Given the description of an element on the screen output the (x, y) to click on. 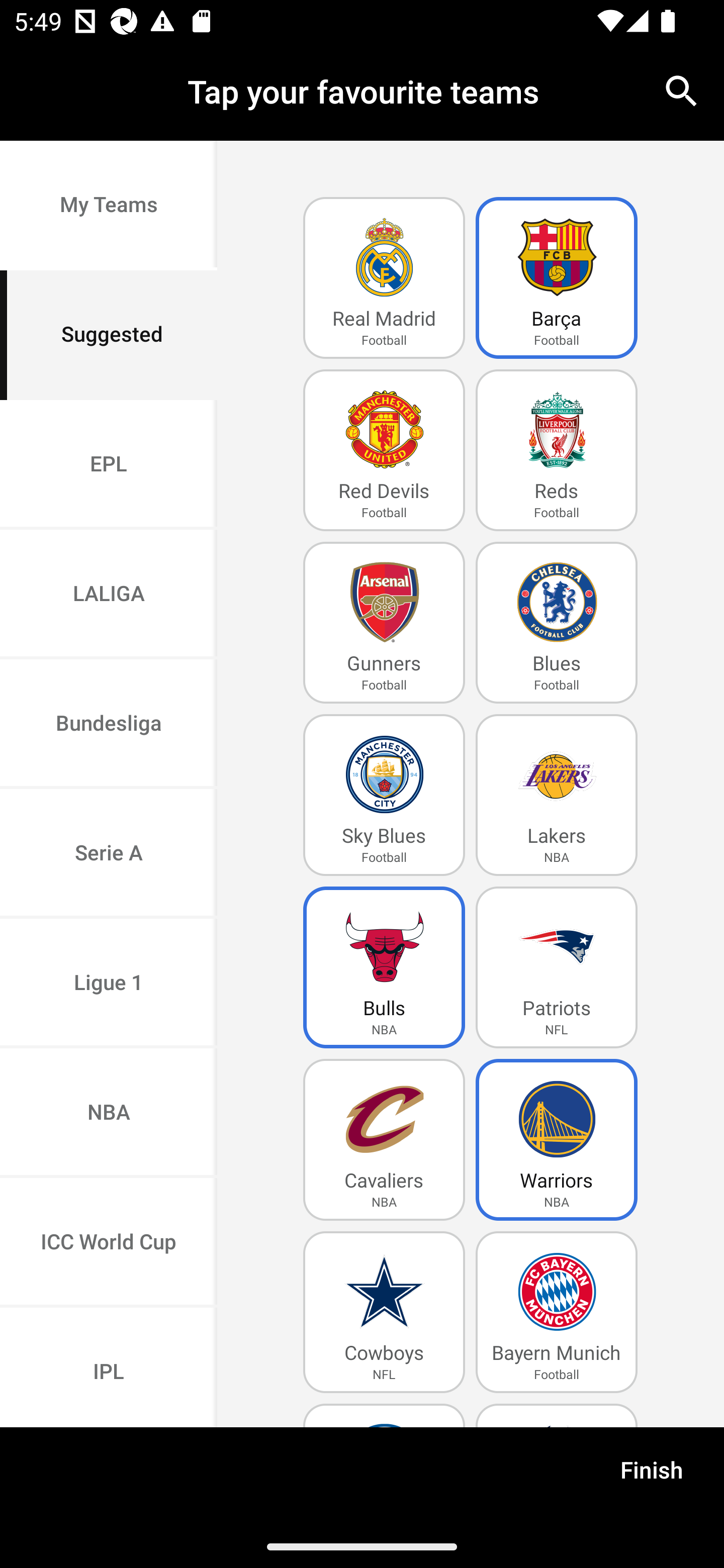
search (681, 90)
My Teams (108, 206)
Real Madrid Real Madrid Football (383, 278)
Barça BarçaSelected Football (556, 278)
Suggested (108, 334)
Red Devils Red Devils Football (383, 450)
Reds Reds Football (556, 450)
EPL (108, 464)
LALIGA (108, 594)
Gunners Gunners Football (383, 623)
Blues Blues Football (556, 623)
Bundesliga (108, 725)
Sky Blues Sky Blues Football (383, 794)
Lakers Lakers NBA (556, 794)
Serie A (108, 853)
Bulls BullsSelected NBA (383, 966)
Patriots Patriots NFL (556, 966)
Ligue 1 (108, 983)
NBA (108, 1113)
Cavaliers Cavaliers NBA (383, 1139)
Warriors WarriorsSelected NBA (556, 1139)
ICC World Cup (108, 1242)
Cowboys Cowboys NFL (383, 1311)
Bayern Munich Bayern Munich Football (556, 1311)
IPL (108, 1366)
Finish Finish and Close (651, 1475)
